Given the description of an element on the screen output the (x, y) to click on. 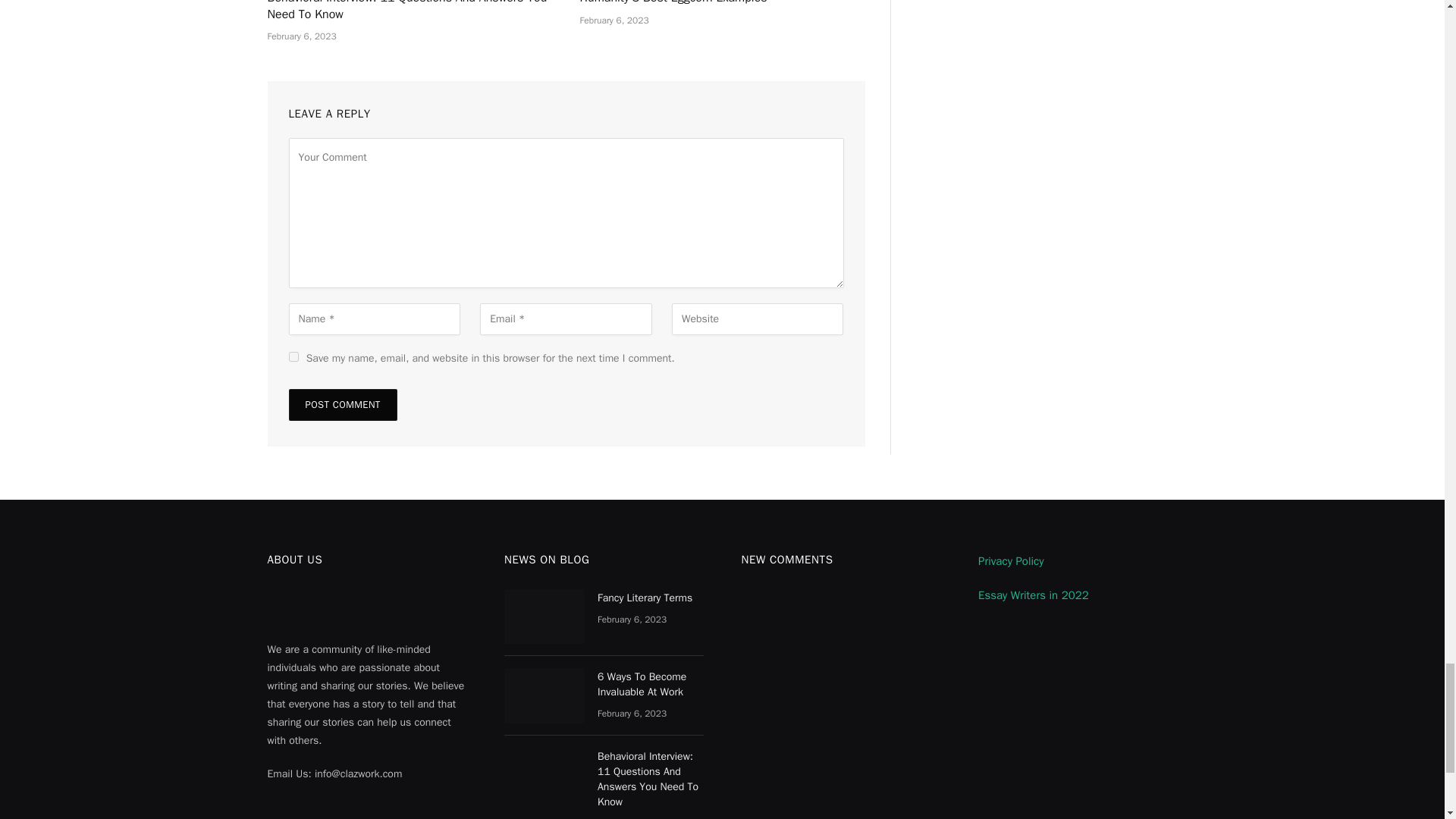
Post Comment (342, 404)
yes (293, 356)
